Given the description of an element on the screen output the (x, y) to click on. 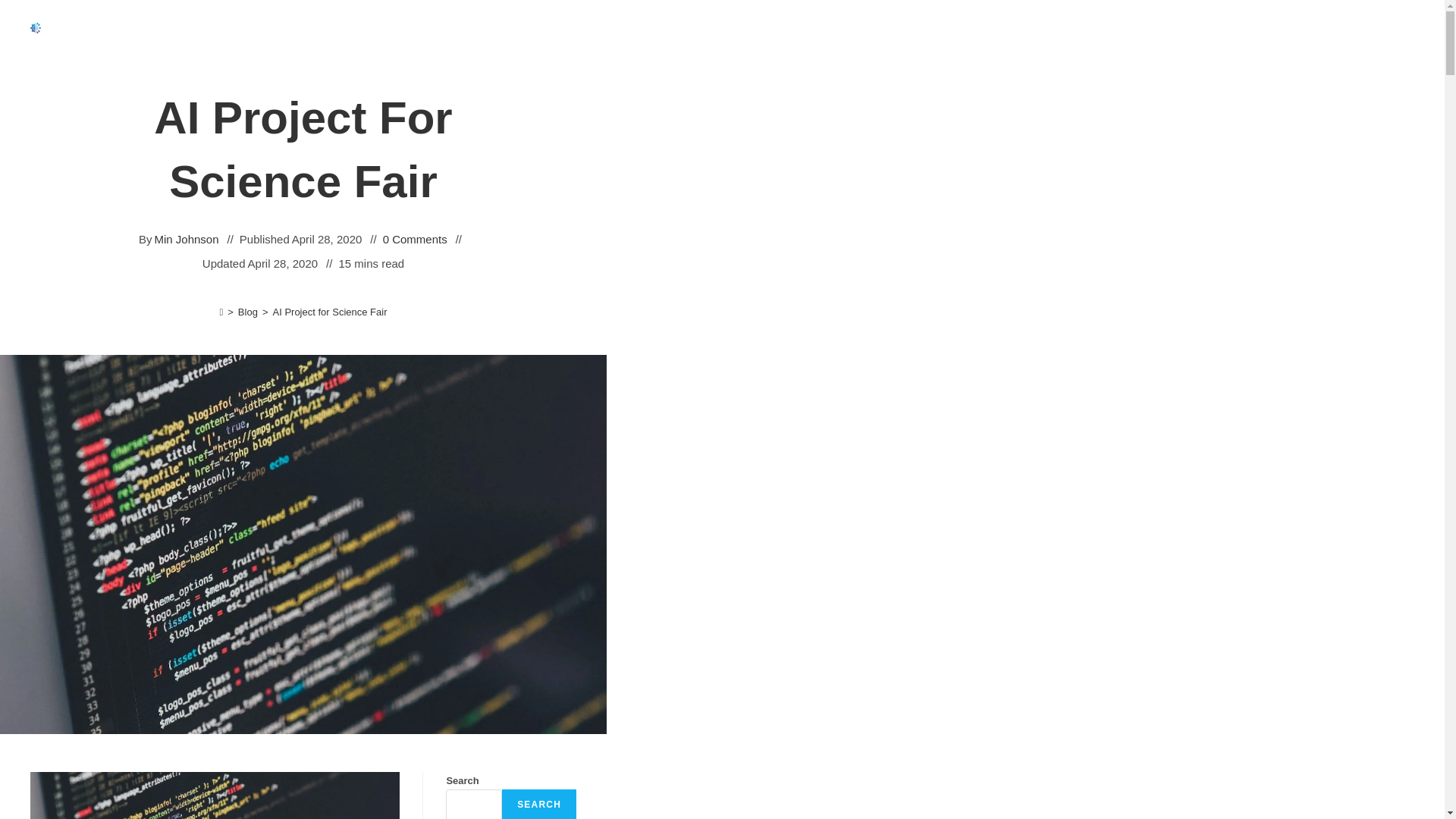
Min Johnson (186, 239)
AI Project for Science Fair (329, 311)
0 Comments (414, 239)
Blog (247, 311)
SEARCH (539, 804)
